Given the description of an element on the screen output the (x, y) to click on. 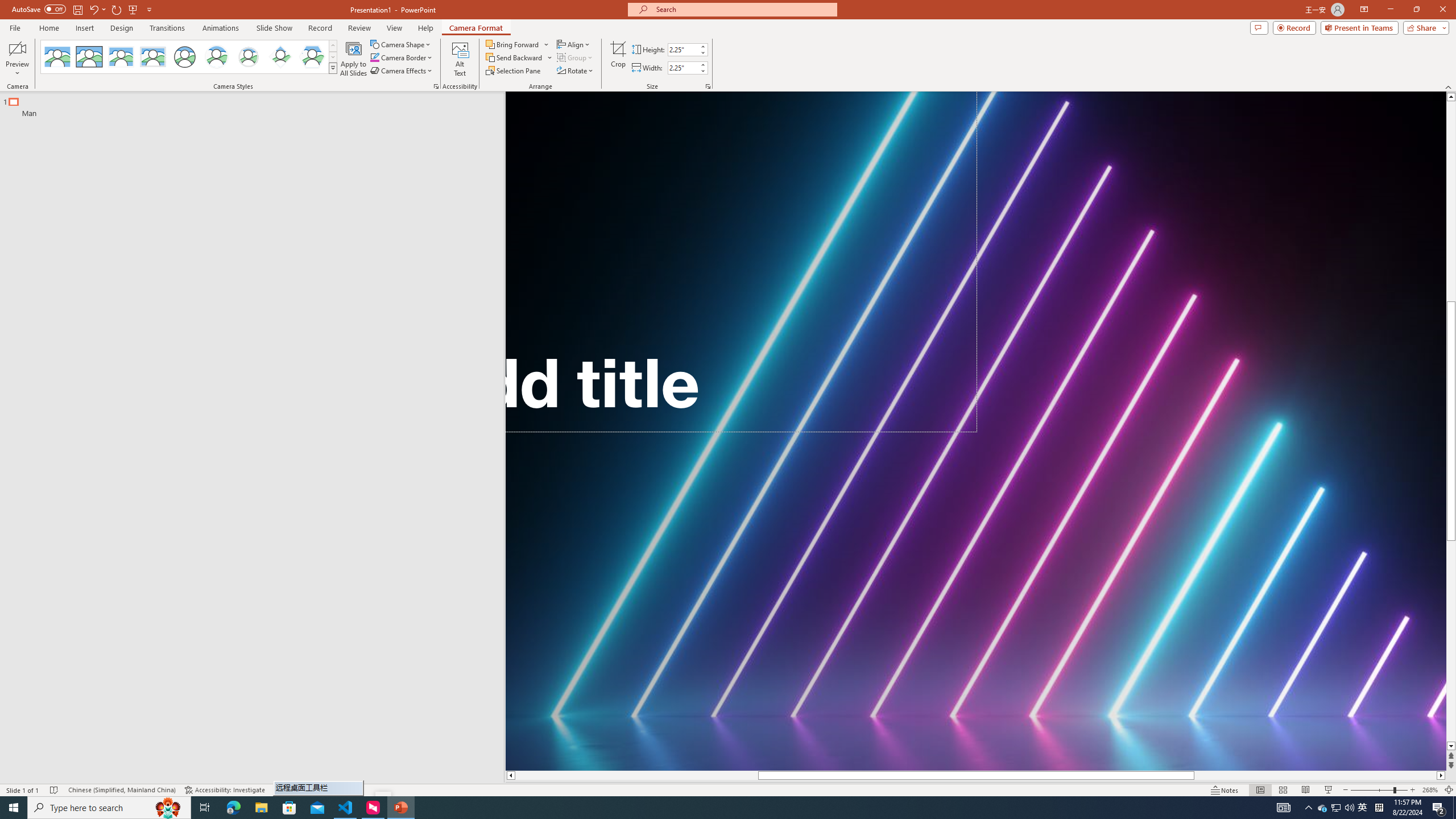
No Style (57, 56)
Center Shadow Hexagon (312, 56)
Crop (617, 58)
Rotate (575, 69)
Send Backward (514, 56)
